Given the description of an element on the screen output the (x, y) to click on. 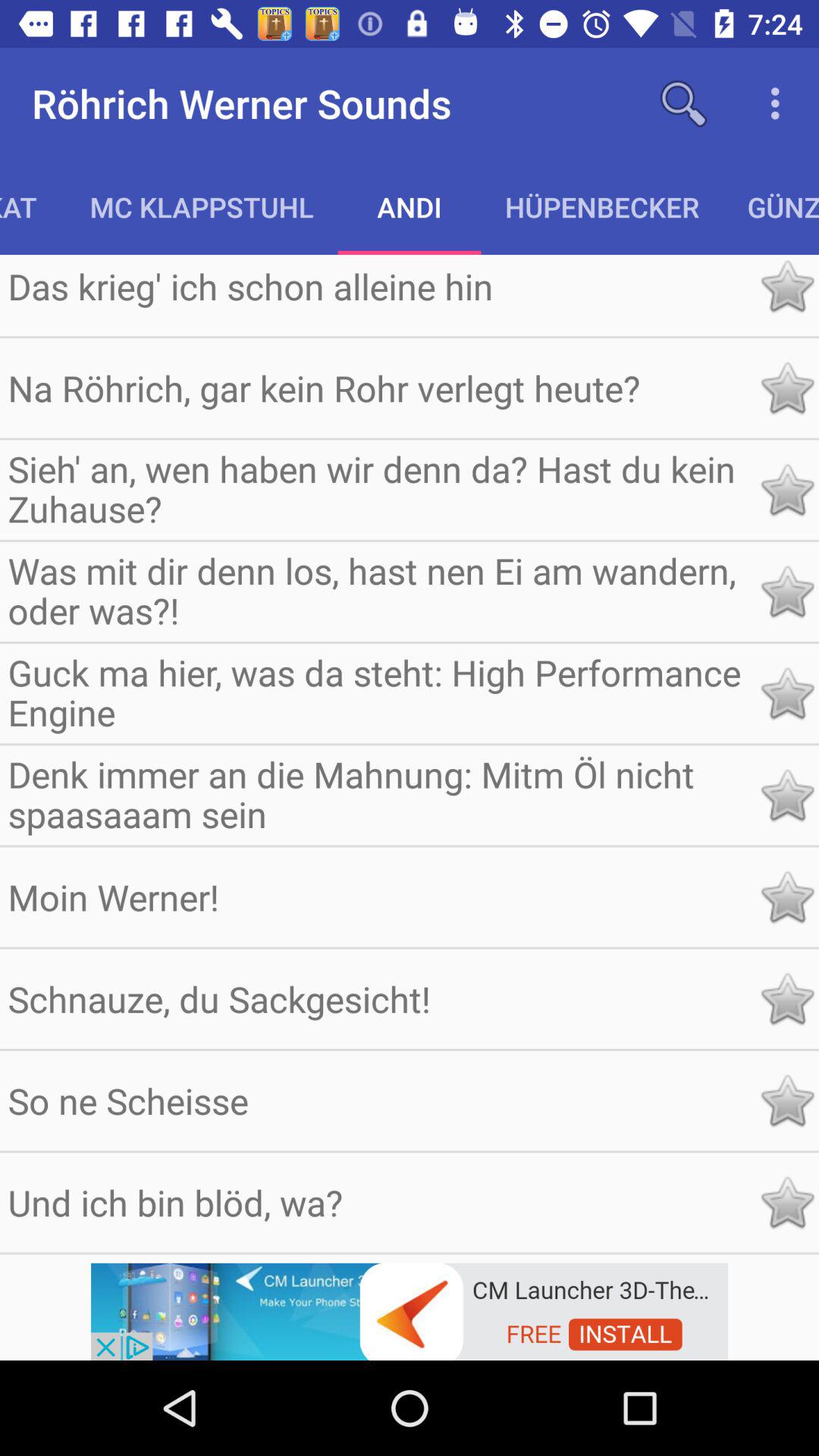
go to favorite button (787, 998)
